Given the description of an element on the screen output the (x, y) to click on. 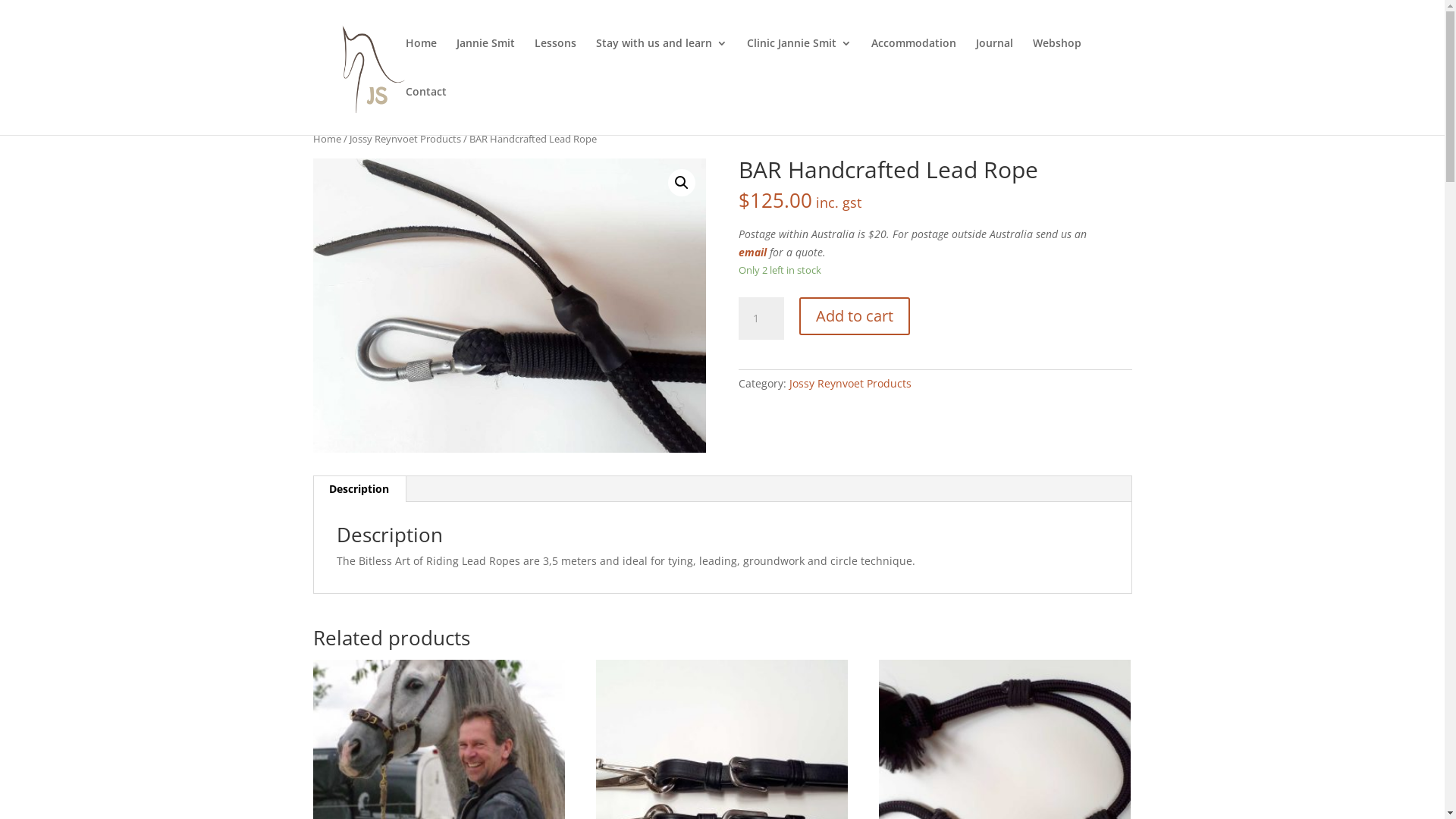
Webshop Element type: text (1056, 61)
Contact Element type: text (424, 110)
Description Element type: text (358, 489)
Qty Element type: hover (761, 318)
BAR-handcrafted-Basic-Leadrope Element type: hover (508, 305)
Jossy Reynvoet Products Element type: text (850, 383)
email Element type: text (752, 251)
Accommodation Element type: text (912, 61)
Jannie Smit Element type: text (485, 61)
Jossy Reynvoet Products Element type: text (404, 138)
Add to cart Element type: text (854, 316)
Clinic Jannie Smit Element type: text (798, 61)
Journal Element type: text (993, 61)
Lessons Element type: text (554, 61)
Stay with us and learn Element type: text (661, 61)
Home Element type: text (420, 61)
Home Element type: text (326, 138)
